Given the description of an element on the screen output the (x, y) to click on. 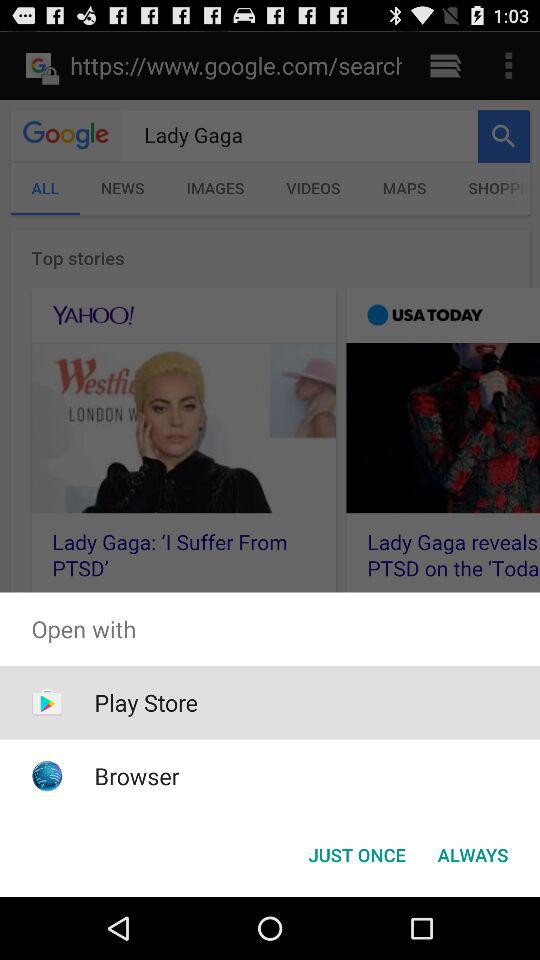
scroll until just once (356, 854)
